Given the description of an element on the screen output the (x, y) to click on. 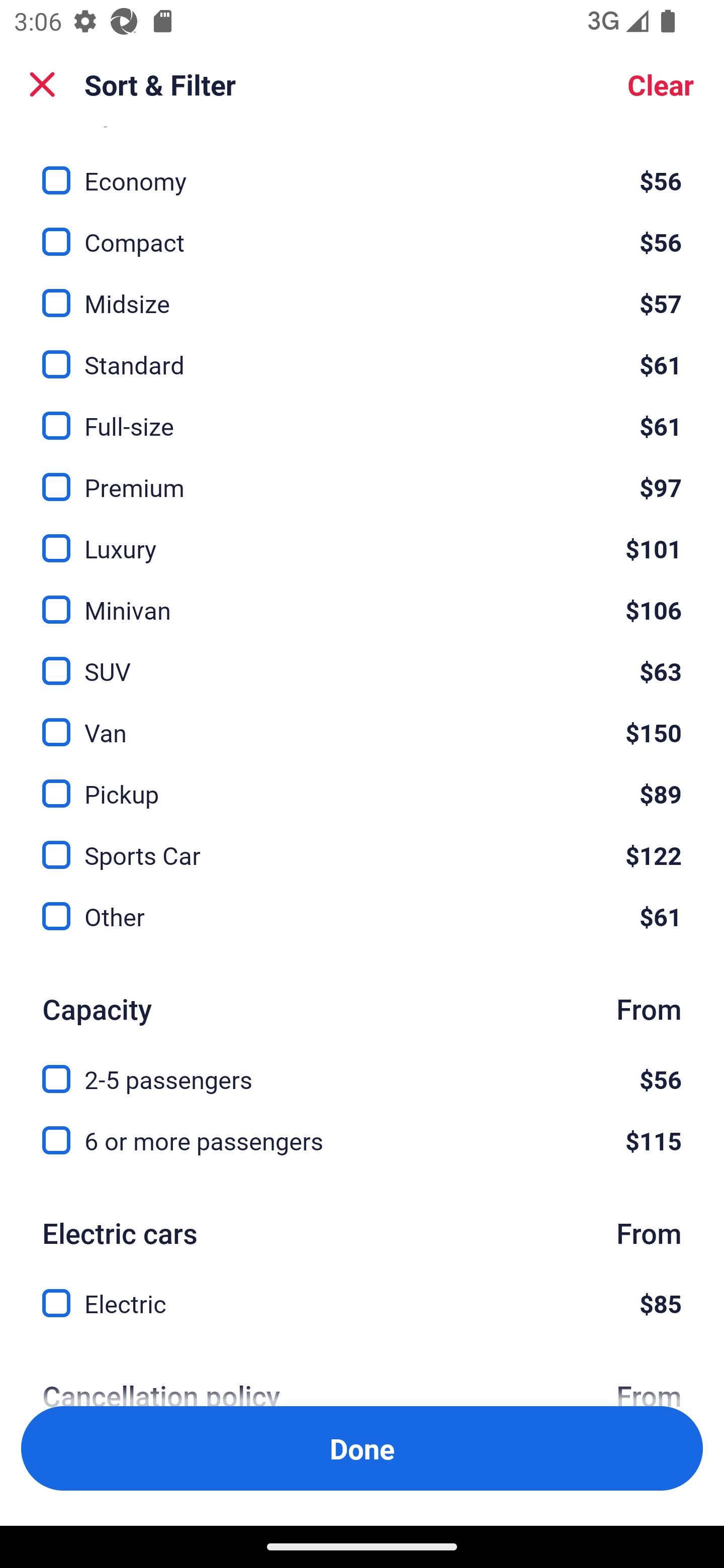
Close Sort and Filter (42, 84)
Clear (660, 84)
Economy, $56 Economy $56 (361, 168)
Compact, $56 Compact $56 (361, 230)
Midsize, $57 Midsize $57 (361, 292)
Standard, $61 Standard $61 (361, 353)
Full-size, $61 Full-size $61 (361, 414)
Premium, $97 Premium $97 (361, 475)
Luxury, $101 Luxury $101 (361, 536)
Minivan, $106 Minivan $106 (361, 597)
SUV, $63 SUV $63 (361, 658)
Van, $150 Van $150 (361, 720)
Pickup, $89 Pickup $89 (361, 782)
Sports Car, $122 Sports Car $122 (361, 843)
Other, $61 Other $61 (361, 916)
2-5 passengers, $56 2-5 passengers $56 (361, 1068)
Electric, $85 Electric $85 (361, 1302)
Apply and close Sort and Filter Done (361, 1448)
